Given the description of an element on the screen output the (x, y) to click on. 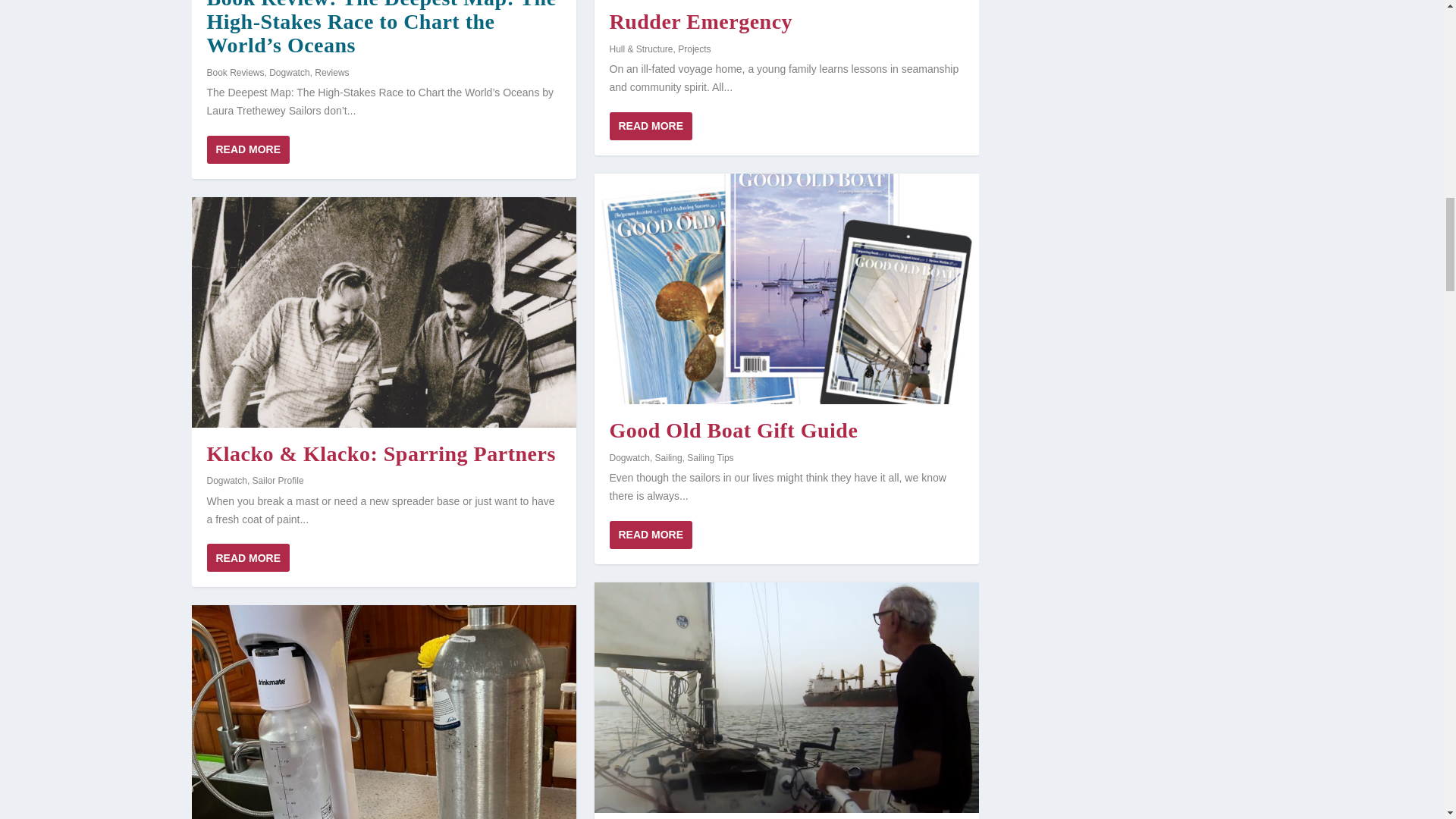
Bubbled Bliss (382, 712)
